Given the description of an element on the screen output the (x, y) to click on. 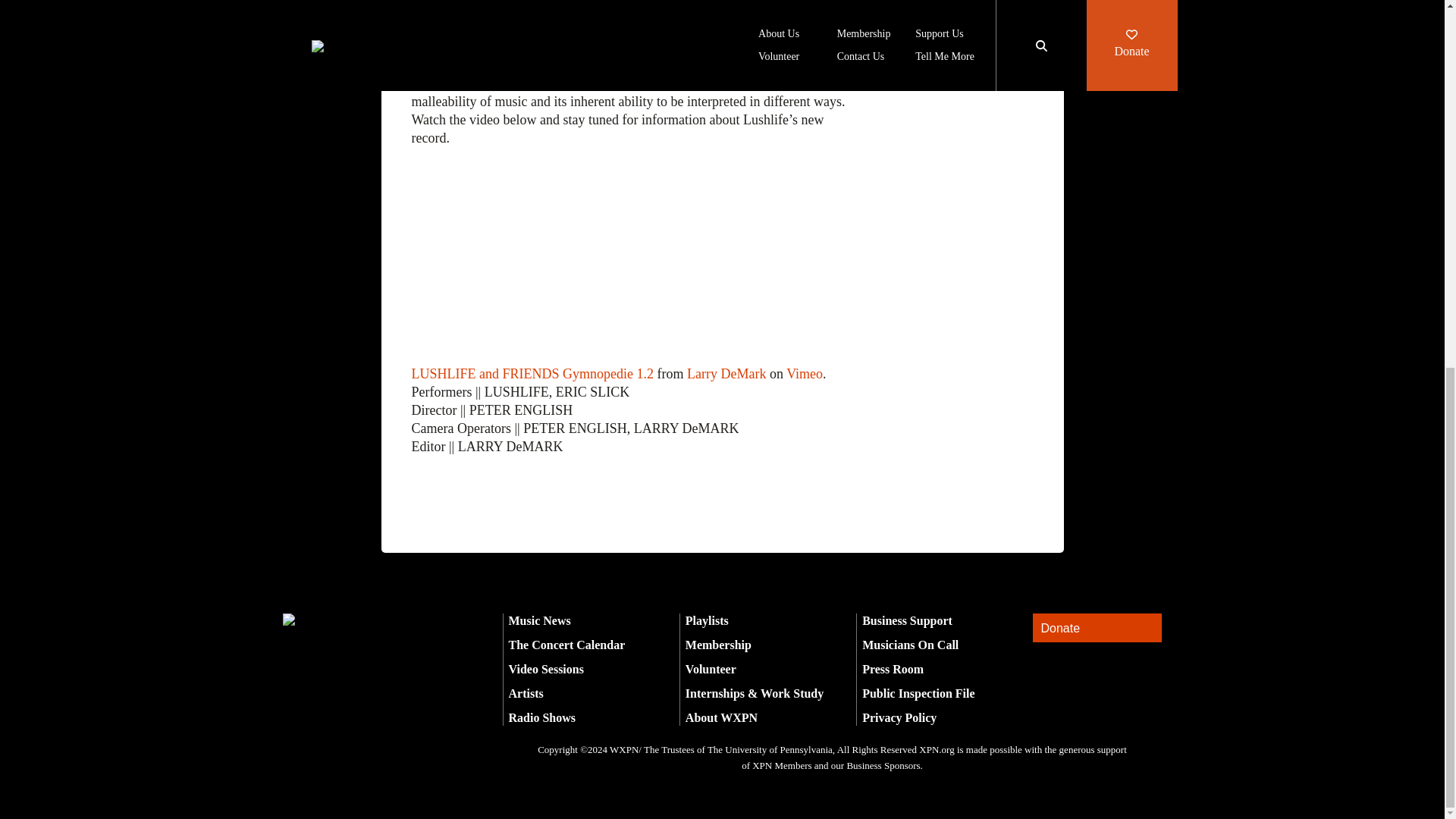
Privacy Policy (898, 717)
Public Inspection File (917, 693)
LUSHLIFE and FRIENDS Gymnopedie 1.2 (531, 373)
Larry DeMark (726, 373)
Artists (525, 693)
Video Sessions (545, 668)
Volunteer (710, 668)
Playlists (707, 620)
Vimeo (804, 373)
About WXPN (721, 717)
